Given the description of an element on the screen output the (x, y) to click on. 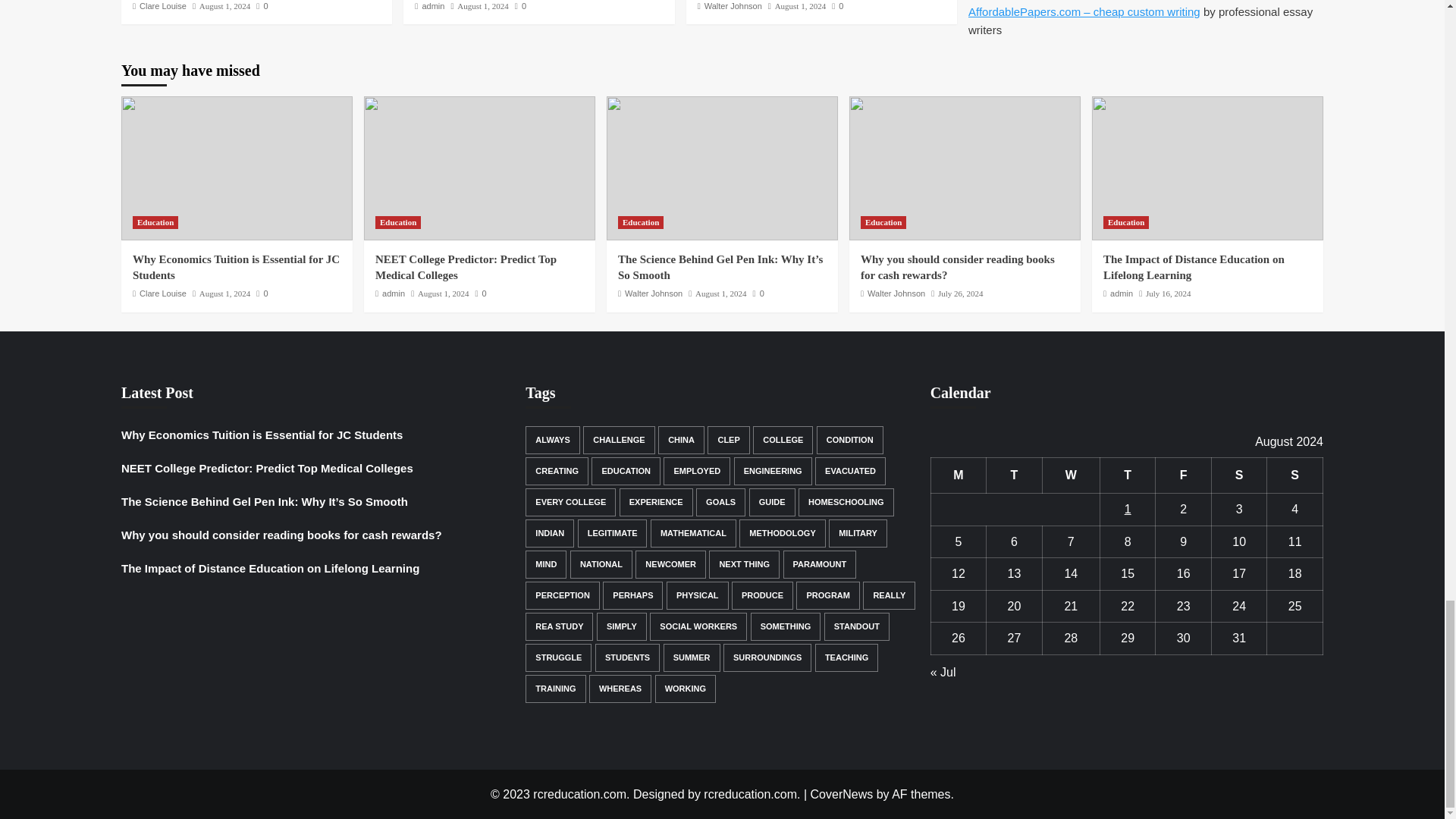
0 (837, 5)
Saturday (1238, 475)
August 1, 2024 (224, 5)
Monday (958, 475)
August 1, 2024 (482, 5)
Walter Johnson (732, 5)
Tuesday (1014, 475)
0 (261, 5)
admin (433, 5)
Clare Louise (162, 5)
Thursday (1127, 475)
Friday (1183, 475)
0 (520, 5)
August 1, 2024 (800, 5)
Wednesday (1070, 475)
